Given the description of an element on the screen output the (x, y) to click on. 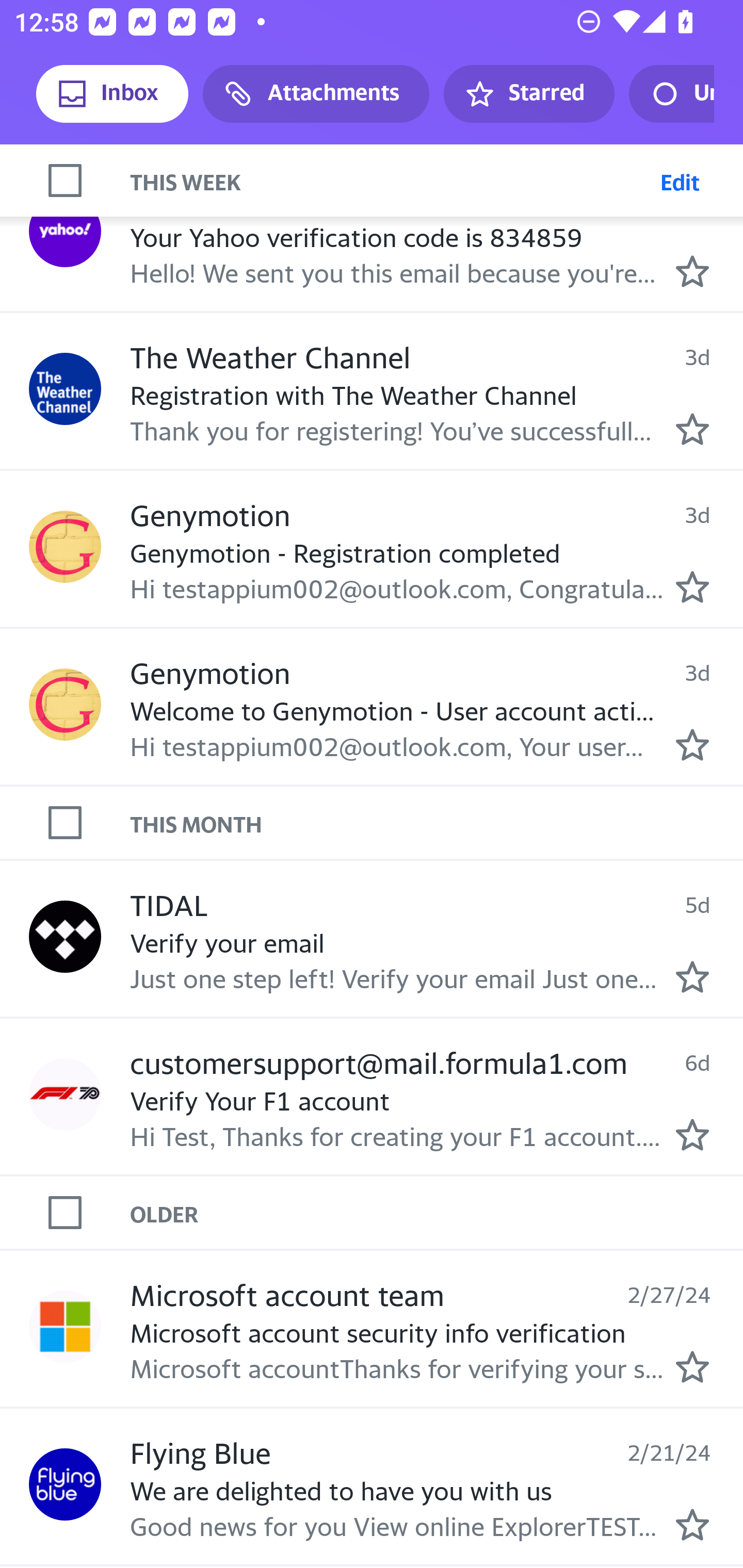
Attachments (315, 93)
Starred (528, 93)
Profile
Yahoo (64, 230)
Mark as starred. (692, 272)
Profile
The Weather Channel (64, 388)
Mark as starred. (692, 428)
Profile
Genymotion (64, 547)
Mark as starred. (692, 587)
Profile
Genymotion (64, 703)
Mark as starred. (692, 744)
THIS MONTH (436, 822)
Profile
TIDAL (64, 936)
Mark as starred. (692, 977)
Profile
customersupport@mail.formula1.com (64, 1094)
Mark as starred. (692, 1134)
OLDER (436, 1212)
Profile
Microsoft account team (64, 1326)
Mark as starred. (692, 1366)
Profile
Flying Blue (64, 1484)
Mark as starred. (692, 1524)
